Given the description of an element on the screen output the (x, y) to click on. 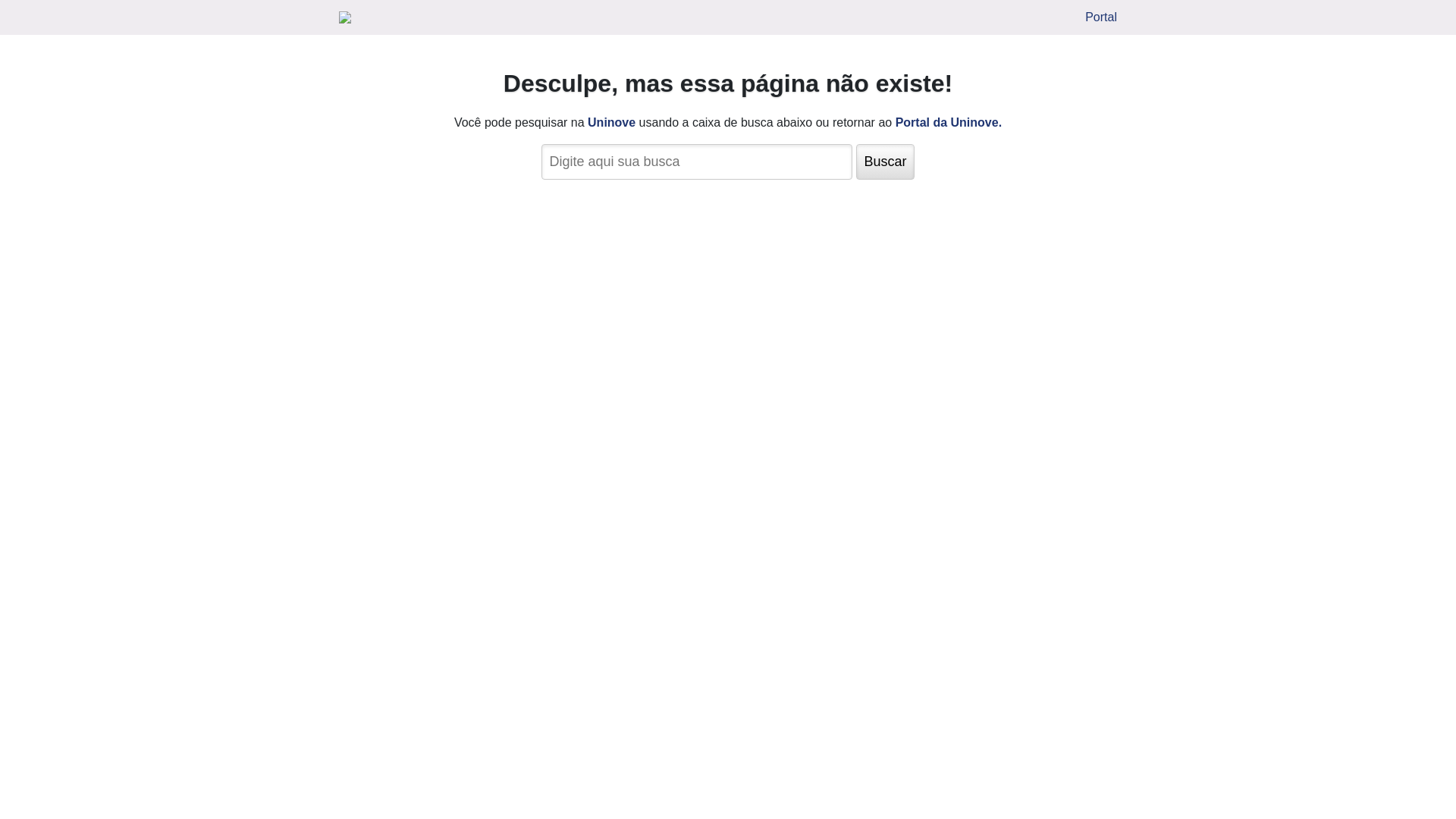
Buscar Element type: text (884, 161)
